Given the description of an element on the screen output the (x, y) to click on. 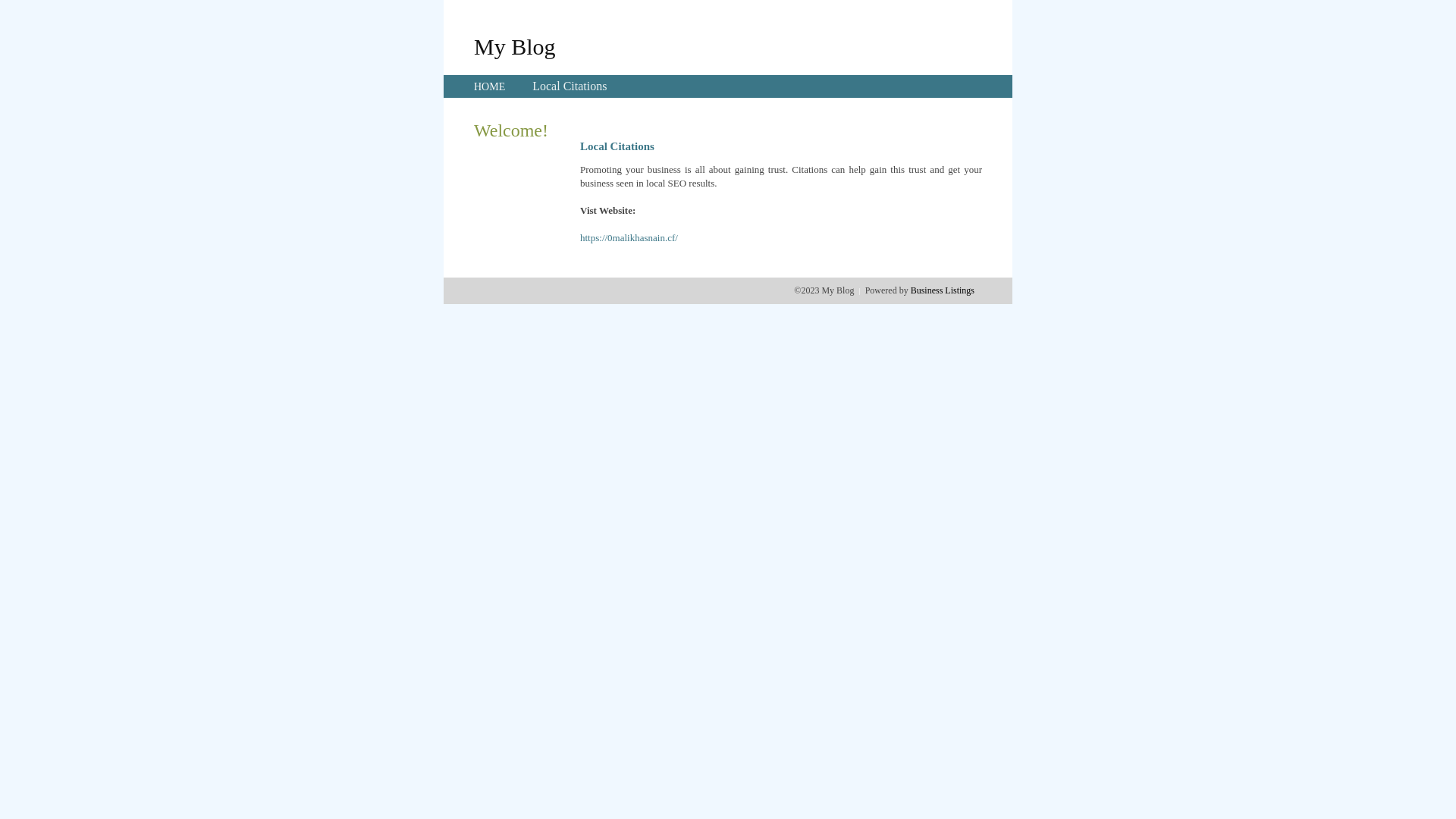
HOME Element type: text (489, 86)
Local Citations Element type: text (569, 85)
https://0malikhasnain.cf/ Element type: text (628, 237)
My Blog Element type: text (514, 46)
Business Listings Element type: text (942, 290)
